Given the description of an element on the screen output the (x, y) to click on. 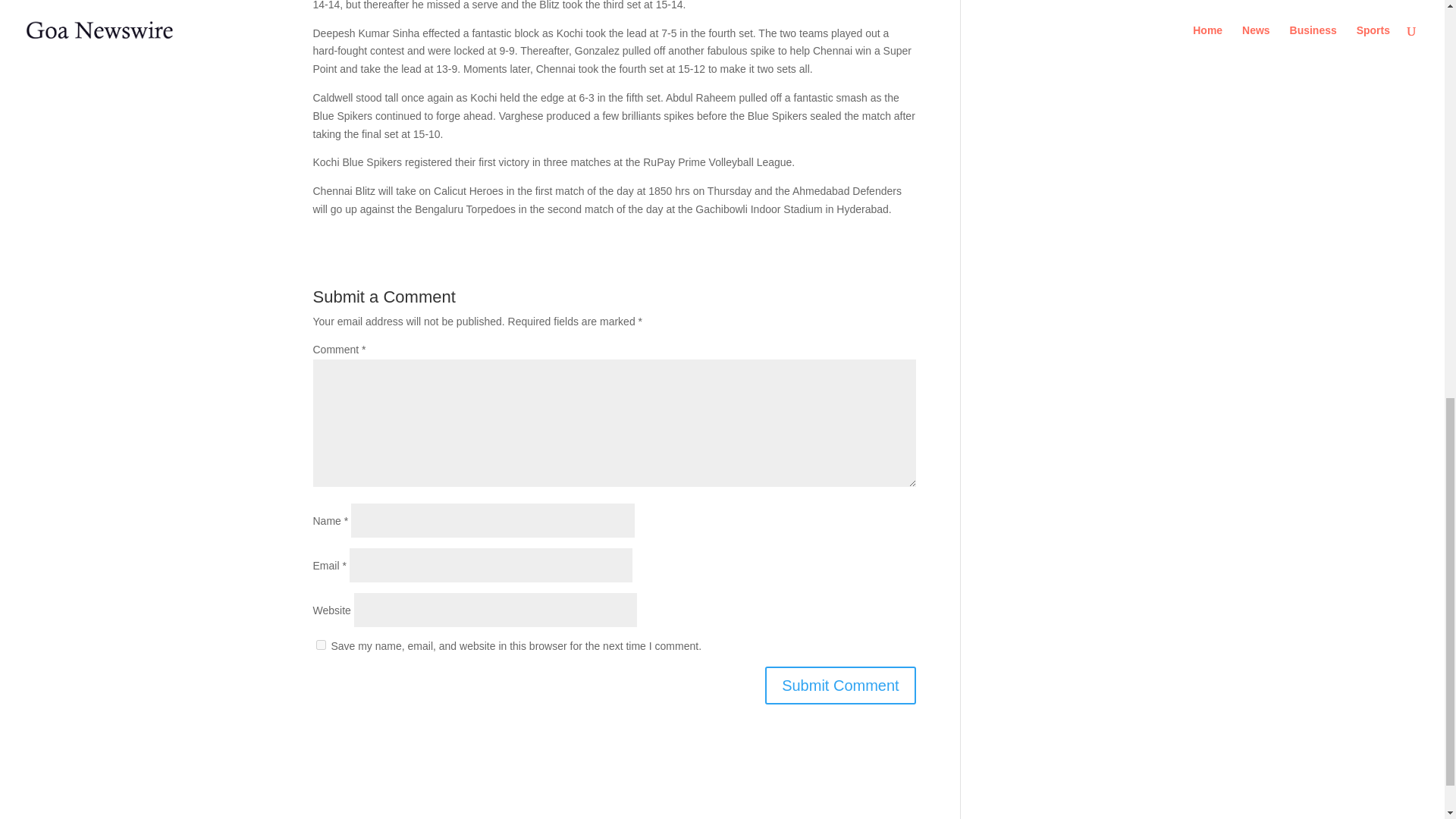
yes (319, 644)
Submit Comment (840, 685)
Submit Comment (840, 685)
